Given the description of an element on the screen output the (x, y) to click on. 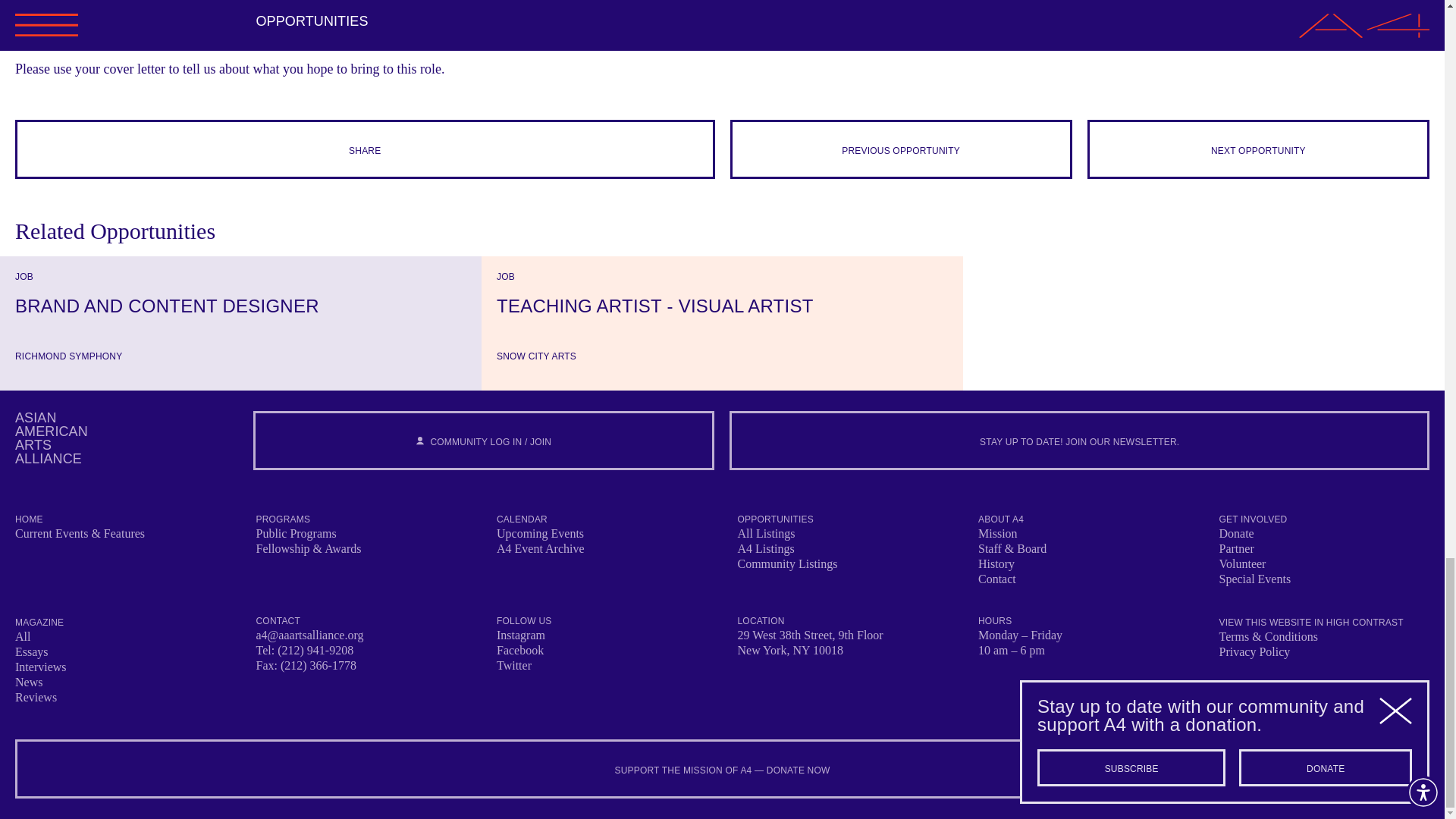
All Listings (765, 533)
Upcoming Events (539, 533)
CALENDAR (521, 519)
STAY UP TO DATE! JOIN OUR NEWSLETTER. (1079, 440)
A4 Event Archive (540, 548)
A4 Listings (764, 548)
PROGRAMS (283, 519)
NEXT OPPORTUNITY (1258, 149)
PREVIOUS OPPORTUNITY (900, 149)
BRAND AND CONTENT DESIGNER (239, 306)
HOME (28, 519)
TEACHING ARTIST - VISUAL ARTIST (721, 306)
Public Programs (296, 533)
OPPORTUNITIES (774, 519)
